Given the description of an element on the screen output the (x, y) to click on. 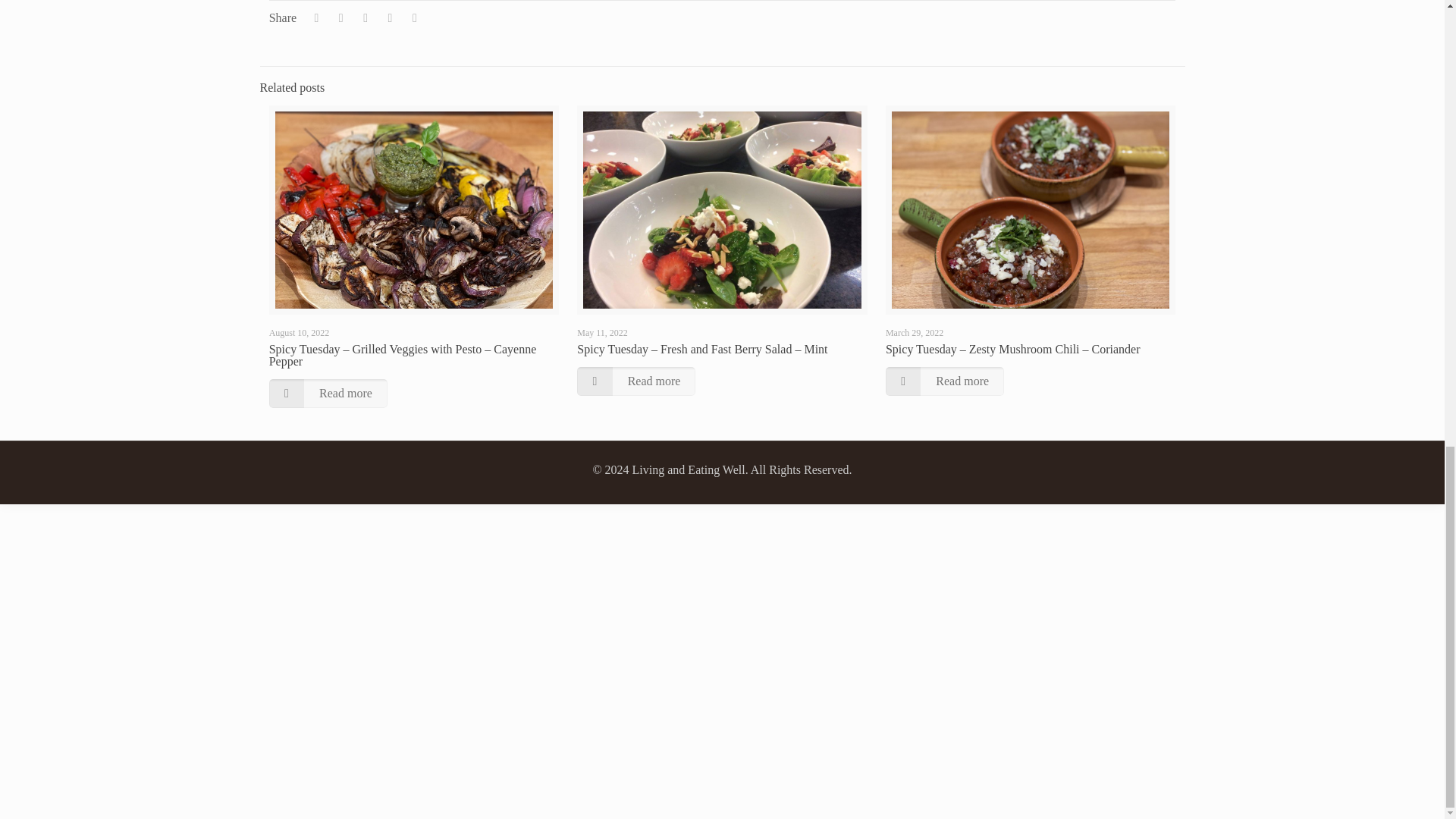
Read more (944, 380)
Read more (328, 393)
Read more (635, 380)
